Given the description of an element on the screen output the (x, y) to click on. 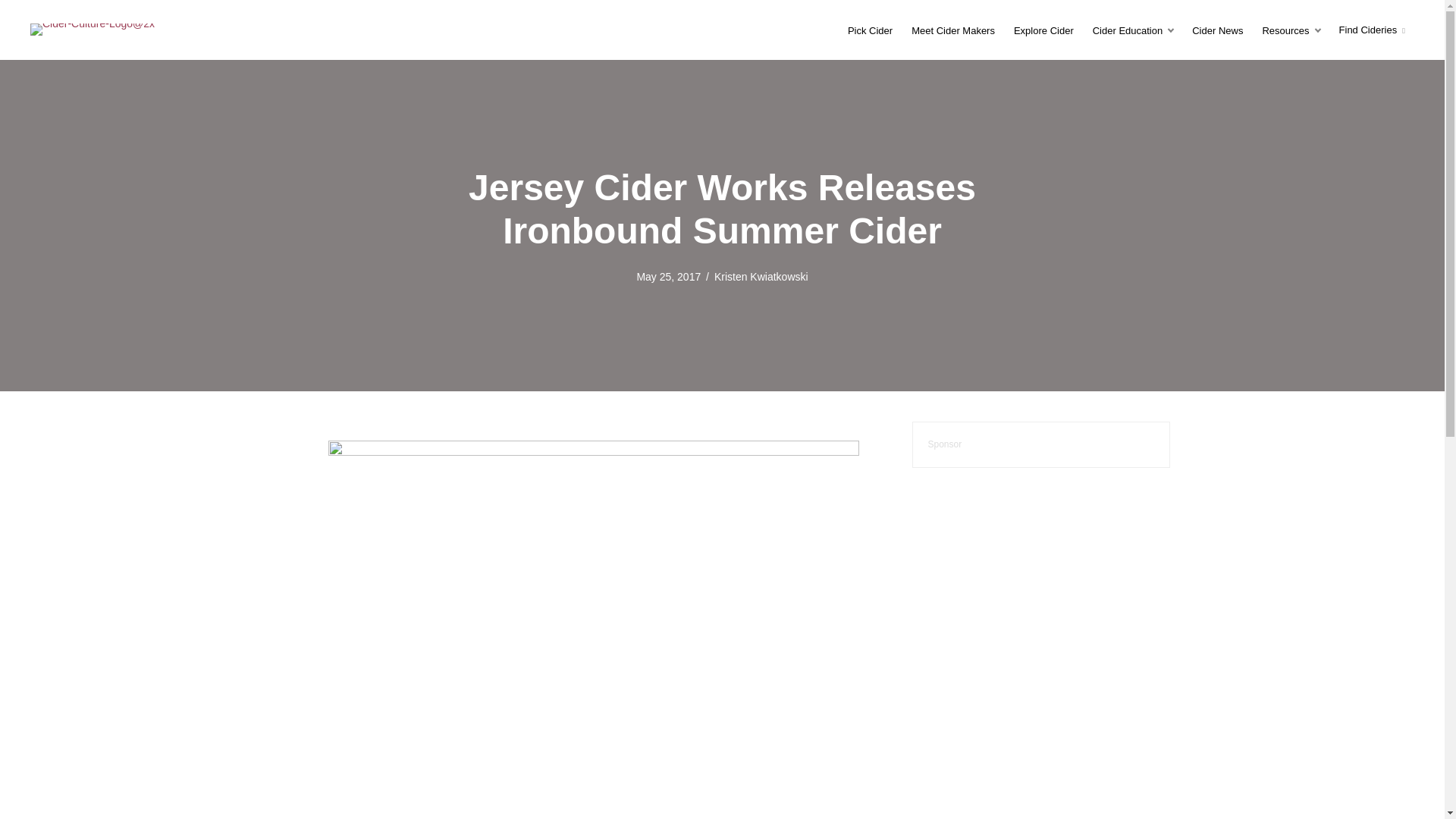
Resources (1289, 30)
Pick Cider (869, 30)
Find Cideries (1371, 29)
Kristen Kwiatkowski (761, 276)
Meet Cider Makers (953, 30)
Cider News (1217, 30)
Cider Education (1132, 30)
Explore Cider (1043, 30)
